Given the description of an element on the screen output the (x, y) to click on. 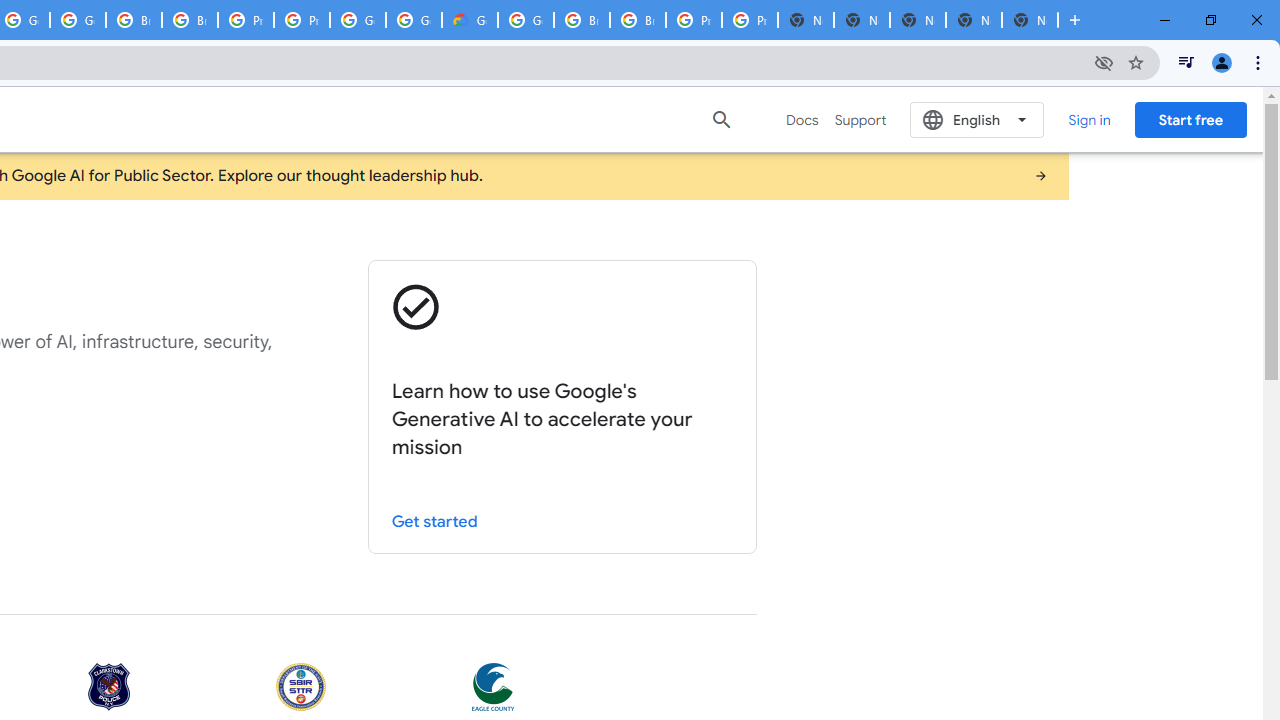
Clarkstown Police (109, 687)
